Given the description of an element on the screen output the (x, y) to click on. 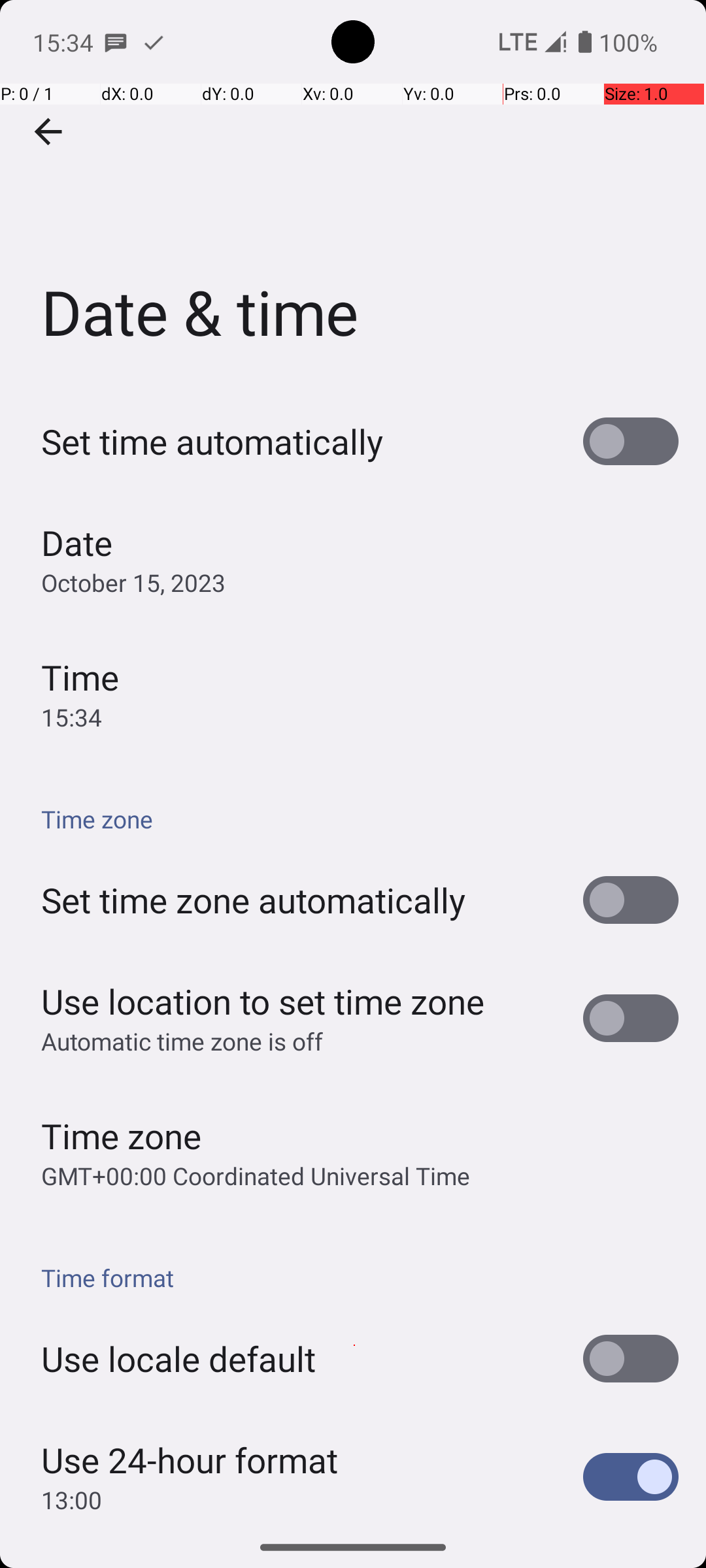
Date & time Element type: android.widget.FrameLayout (353, 195)
Set time automatically Element type: android.widget.TextView (212, 441)
October 15, 2023 Element type: android.widget.TextView (133, 582)
Time zone Element type: android.widget.TextView (359, 818)
Set time zone automatically Element type: android.widget.TextView (253, 899)
Use location to set time zone Element type: android.widget.TextView (263, 1001)
Automatic time zone is off Element type: android.widget.TextView (182, 1040)
GMT+00:00 Coordinated Universal Time Element type: android.widget.TextView (255, 1175)
Time format Element type: android.widget.TextView (359, 1277)
Use locale default Element type: android.widget.TextView (178, 1358)
Use 24-hour format Element type: android.widget.TextView (189, 1459)
SMS Messenger notification: Daniel Ali Element type: android.widget.ImageView (115, 41)
